Given the description of an element on the screen output the (x, y) to click on. 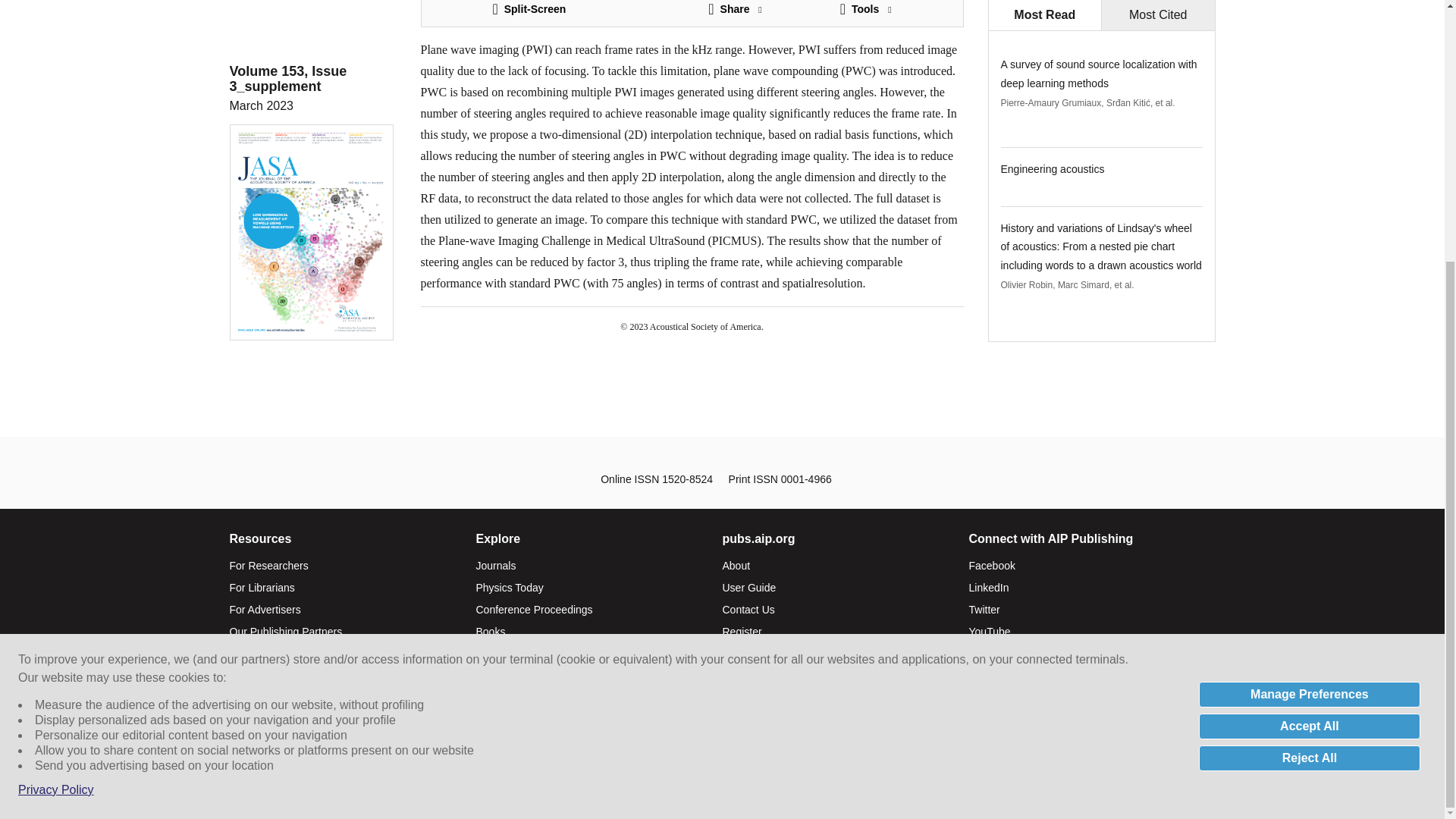
Privacy Policy (55, 415)
Reject All (1309, 383)
Manage Preferences (1309, 319)
Accept All (1309, 351)
